Given the description of an element on the screen output the (x, y) to click on. 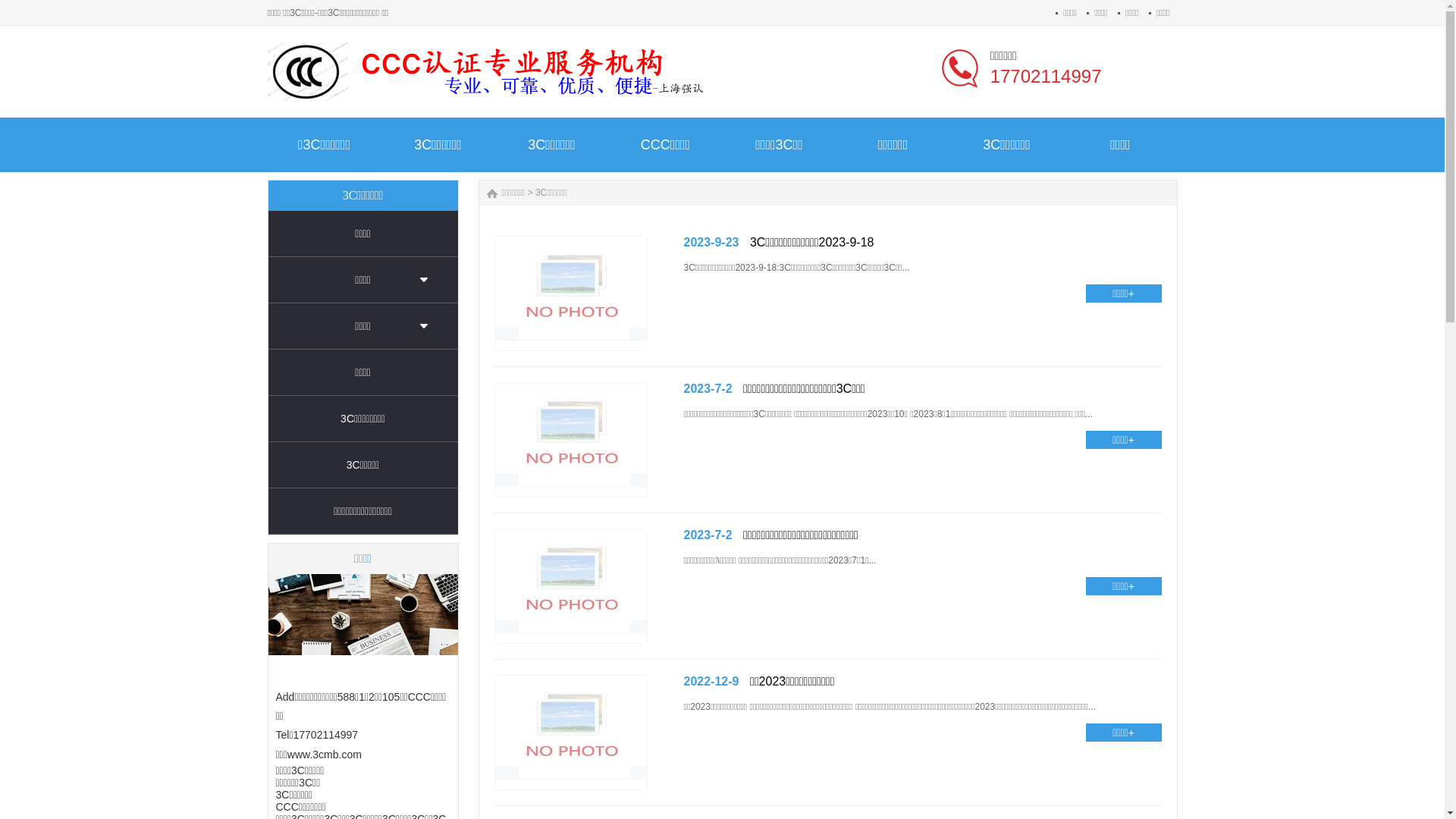
www.3cmb.com Element type: text (324, 754)
